Given the description of an element on the screen output the (x, y) to click on. 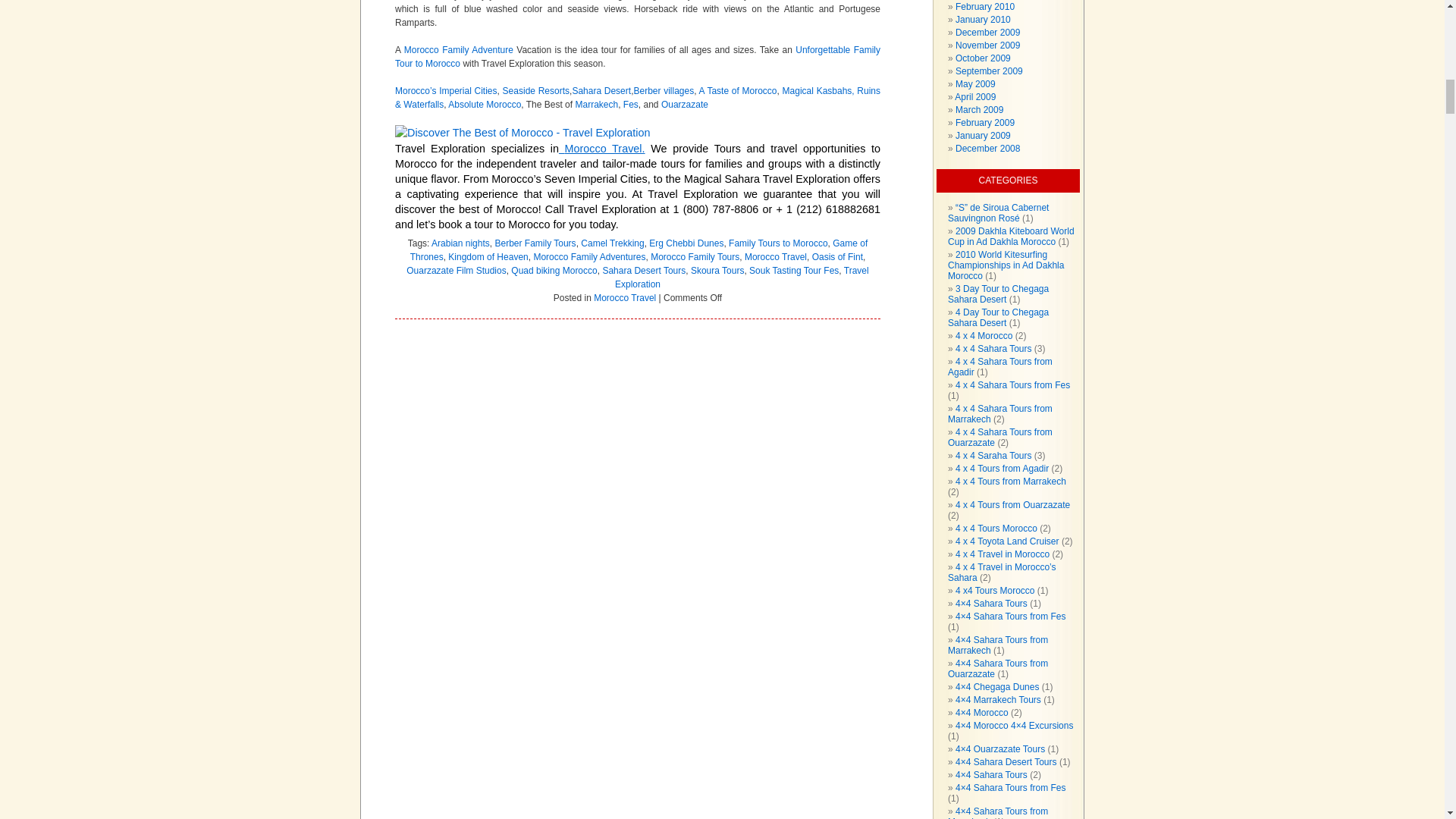
travel-exploration-signature-logo-link13 (521, 132)
Morocco Family Adventure (460, 50)
Seaside Resorts (535, 90)
Sahara Desert (601, 90)
